Given the description of an element on the screen output the (x, y) to click on. 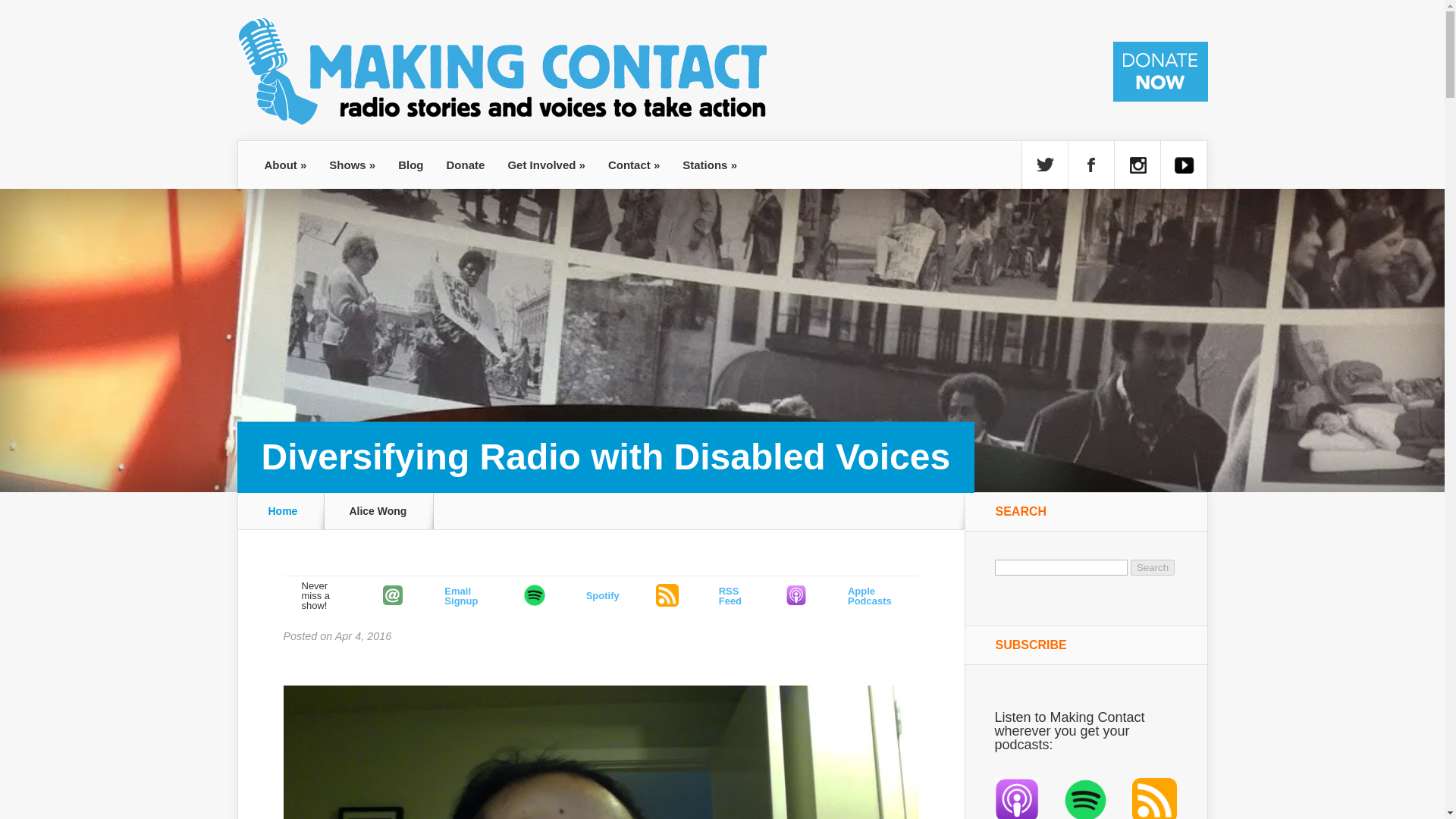
email signup (392, 594)
iTunes logo (796, 594)
RSS Feed (667, 594)
Spotify Logo (534, 594)
About (285, 164)
Search (1152, 567)
